Given the description of an element on the screen output the (x, y) to click on. 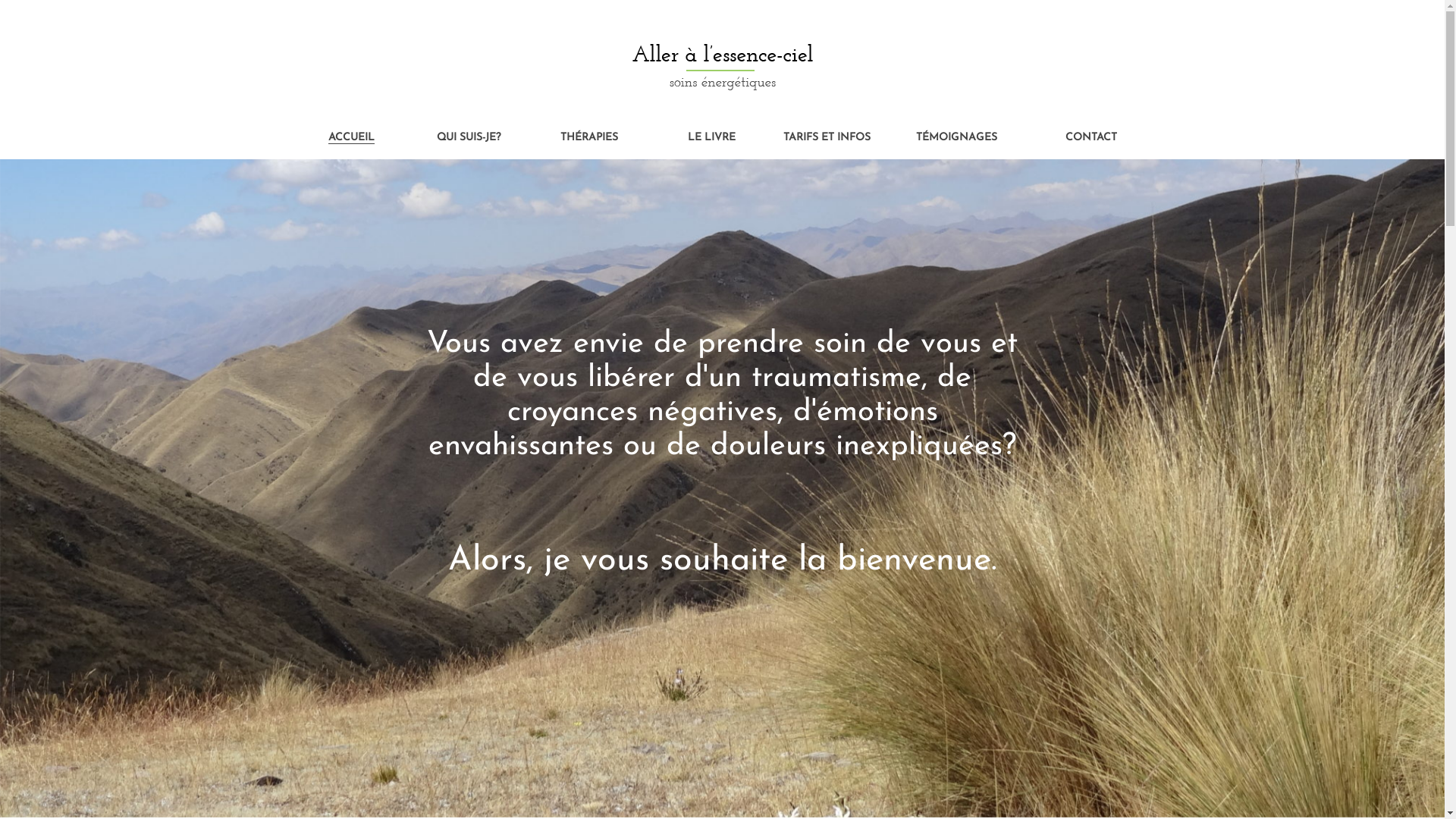
LE LIVRE Element type: text (711, 138)
CONTACT Element type: text (1091, 138)
TARIFS ET INFOS Element type: text (826, 138)
QUI SUIS-JE? Element type: text (468, 138)
ACCUEIL Element type: text (351, 138)
